Given the description of an element on the screen output the (x, y) to click on. 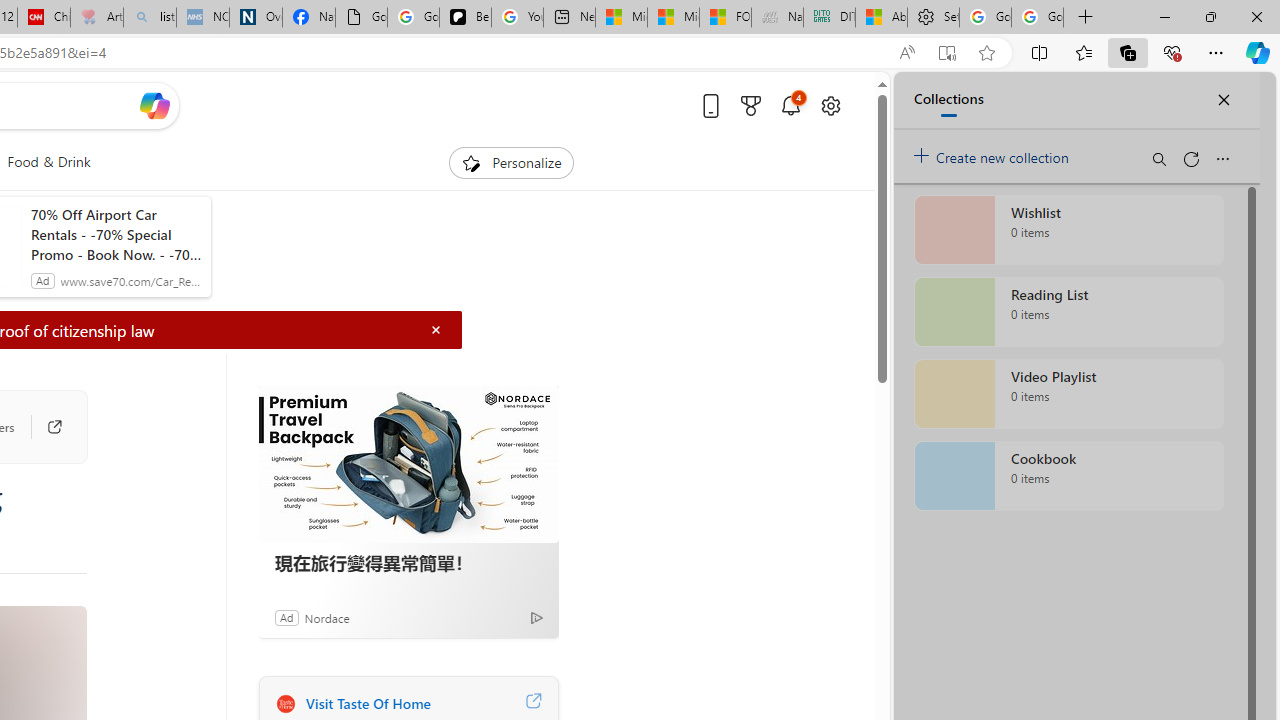
Taste of Home (285, 703)
Personalize (511, 162)
